Given the description of an element on the screen output the (x, y) to click on. 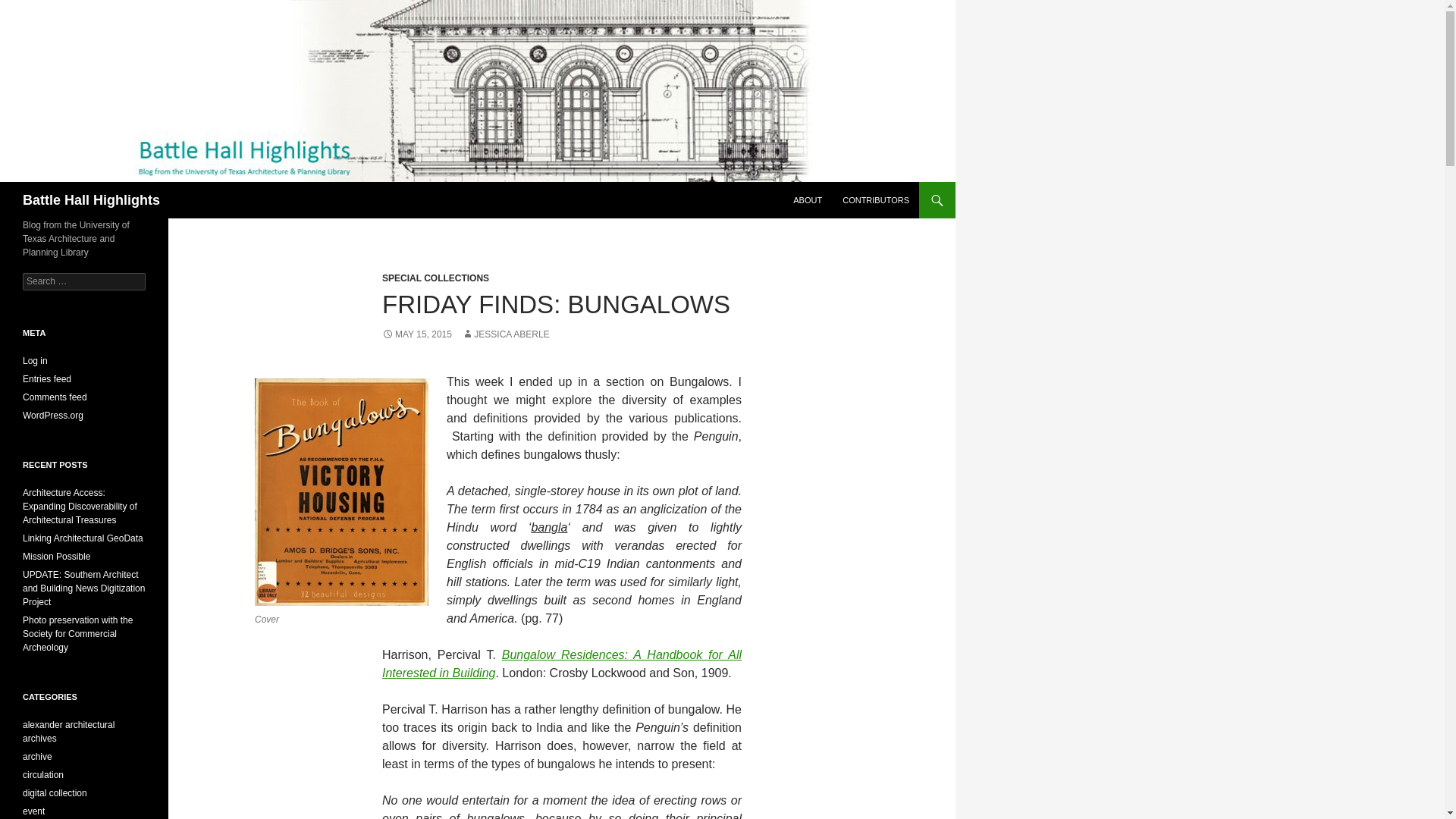
Log in (35, 360)
ABOUT (807, 199)
circulation (43, 774)
digital collection (55, 792)
event (34, 810)
Linking Architectural GeoData (82, 538)
CONTRIBUTORS (875, 199)
